Given the description of an element on the screen output the (x, y) to click on. 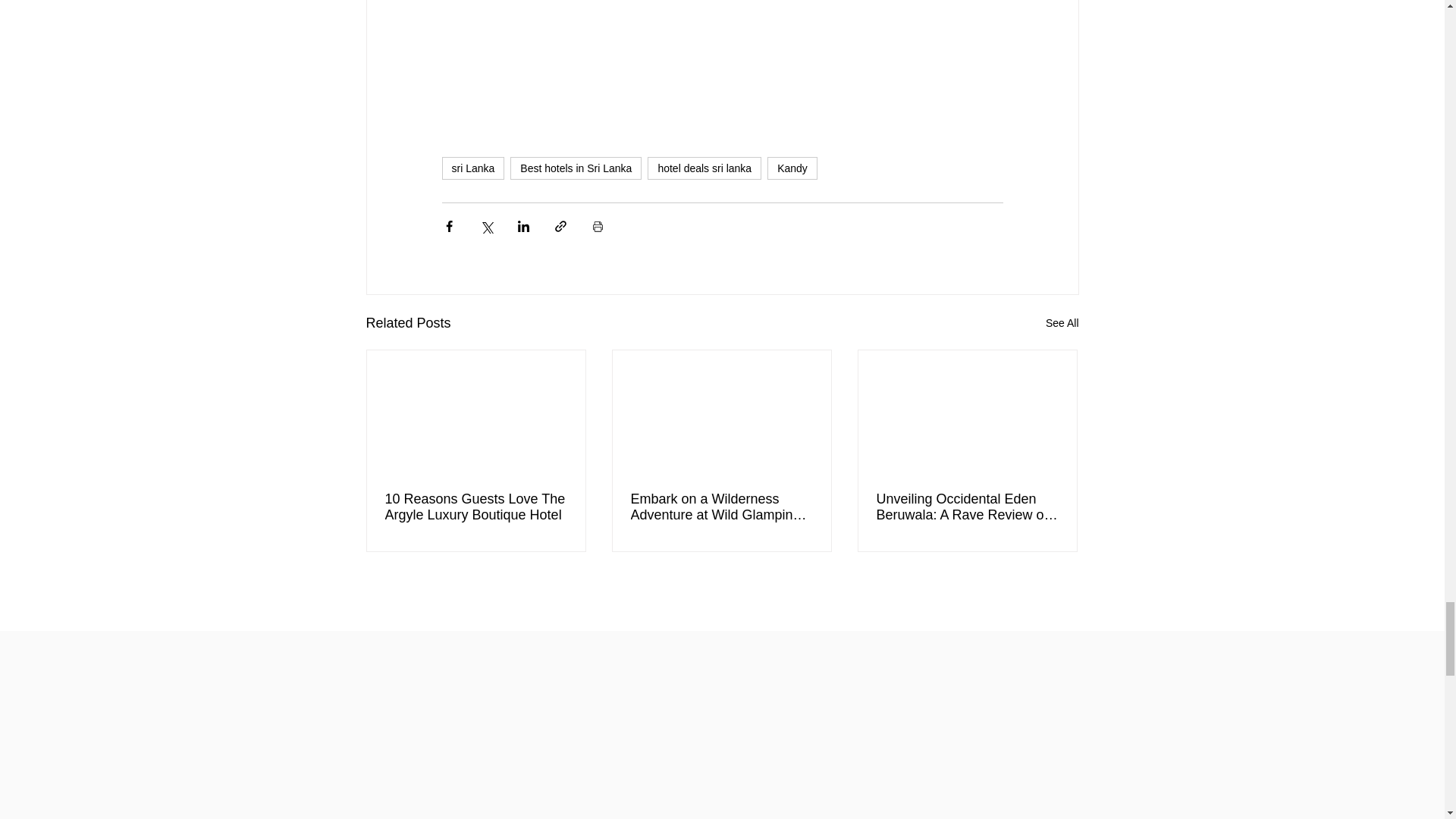
Best hotels in Sri Lanka (576, 168)
Kandy (791, 168)
hotel deals sri lanka (704, 168)
sri Lanka (472, 168)
